Given the description of an element on the screen output the (x, y) to click on. 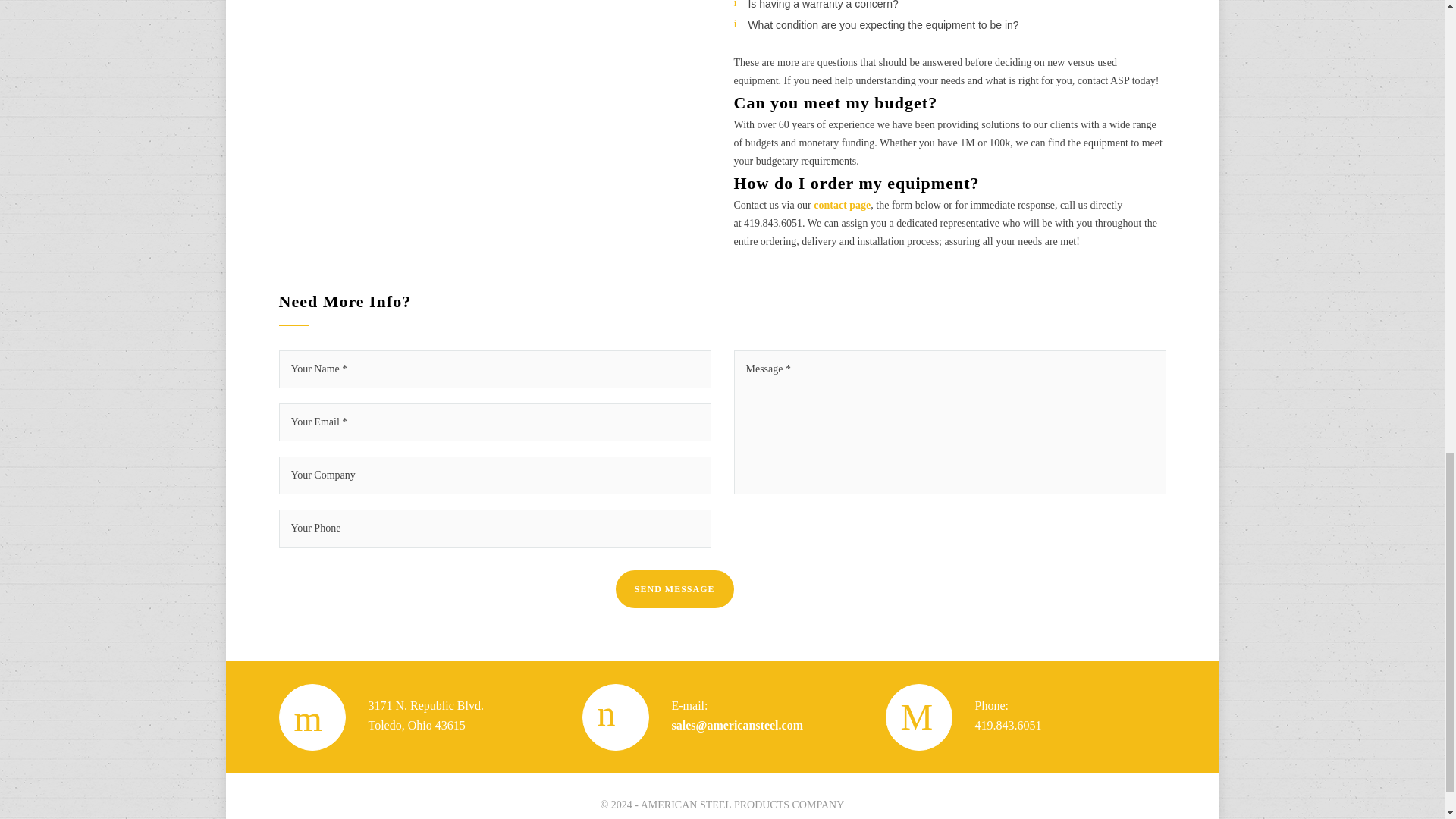
Your Phone (495, 528)
Your Company (495, 475)
SEND MESSAGE (674, 589)
